Given the description of an element on the screen output the (x, y) to click on. 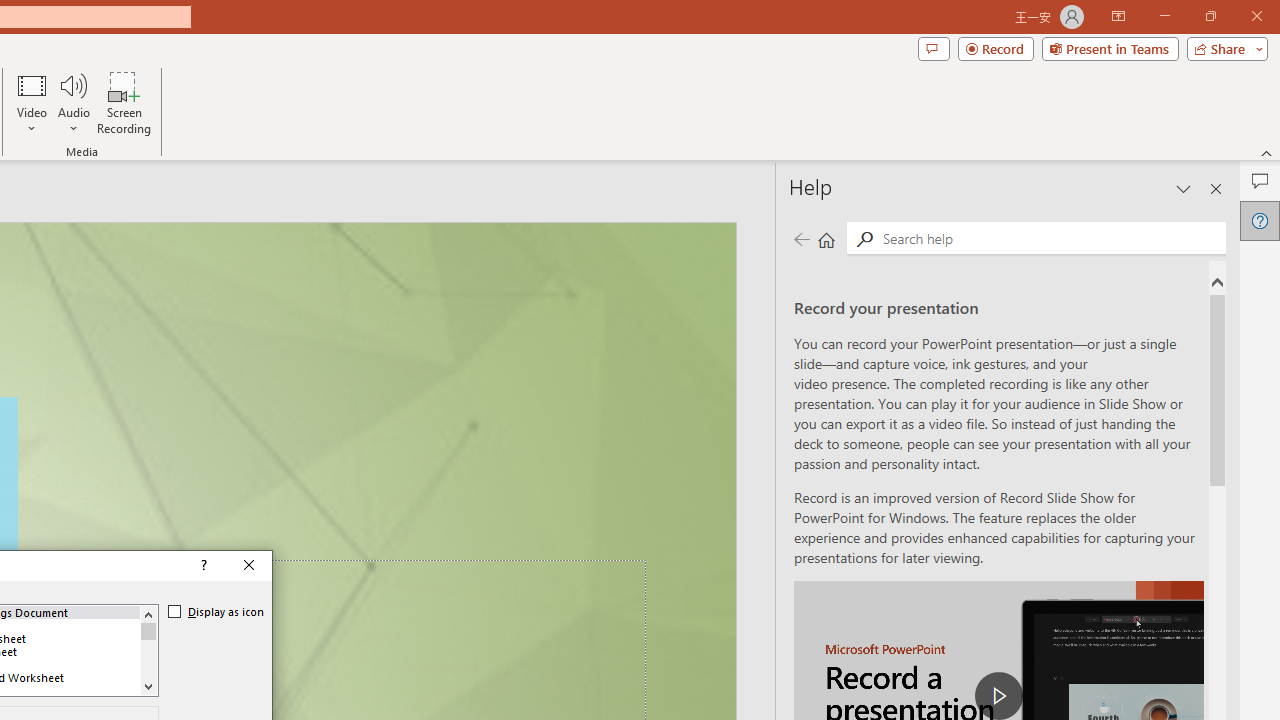
play Record a Presentation (998, 695)
Class: NetUIScrollBar (148, 650)
Audio (73, 102)
